Given the description of an element on the screen output the (x, y) to click on. 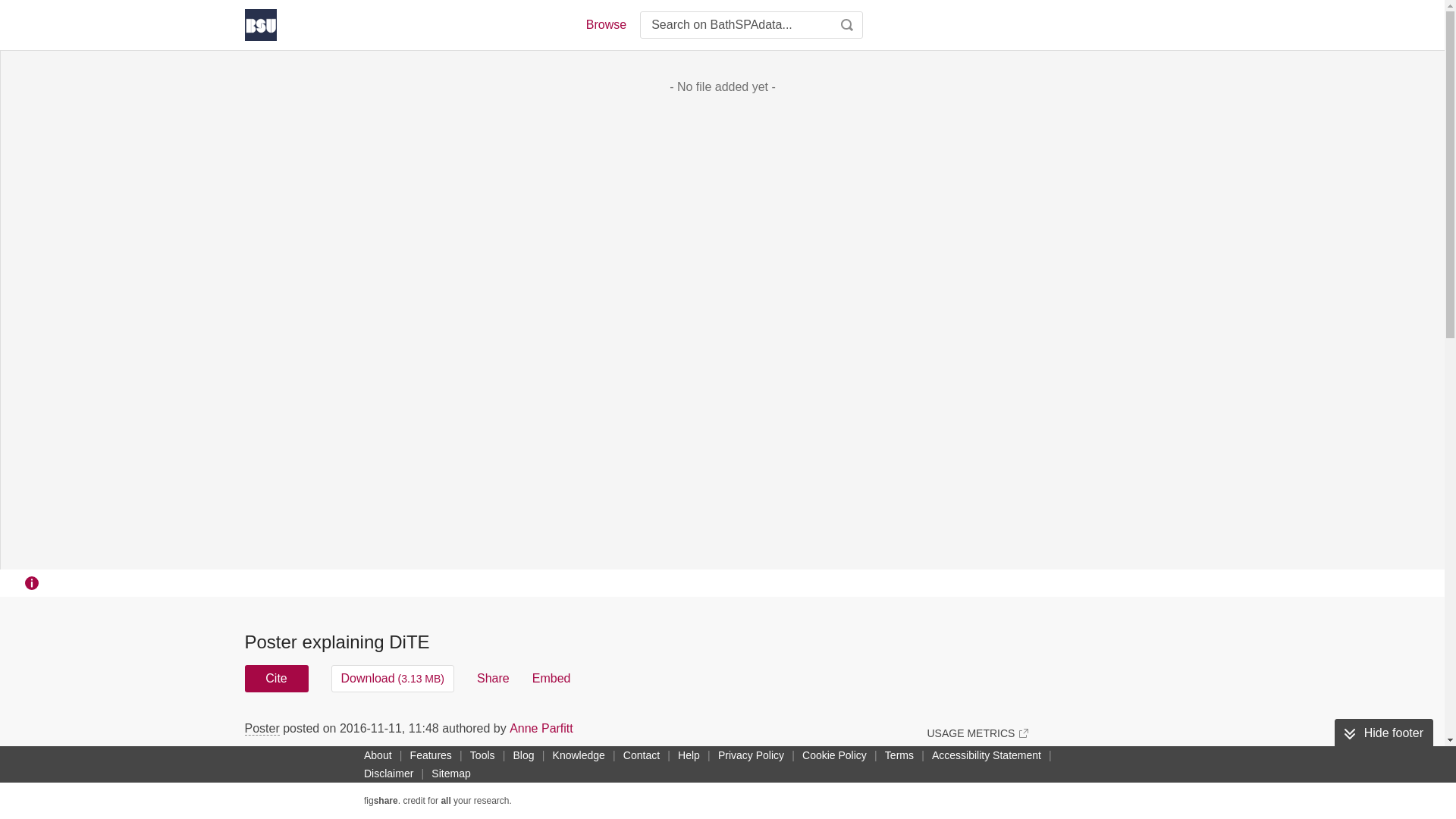
Embed (551, 678)
Tools (482, 755)
USAGE METRICS (976, 732)
Features (431, 755)
About (377, 755)
Anne Parfitt (541, 727)
Share (493, 678)
Knowledge (579, 755)
Hide footer (1383, 733)
Browse (605, 24)
